Given the description of an element on the screen output the (x, y) to click on. 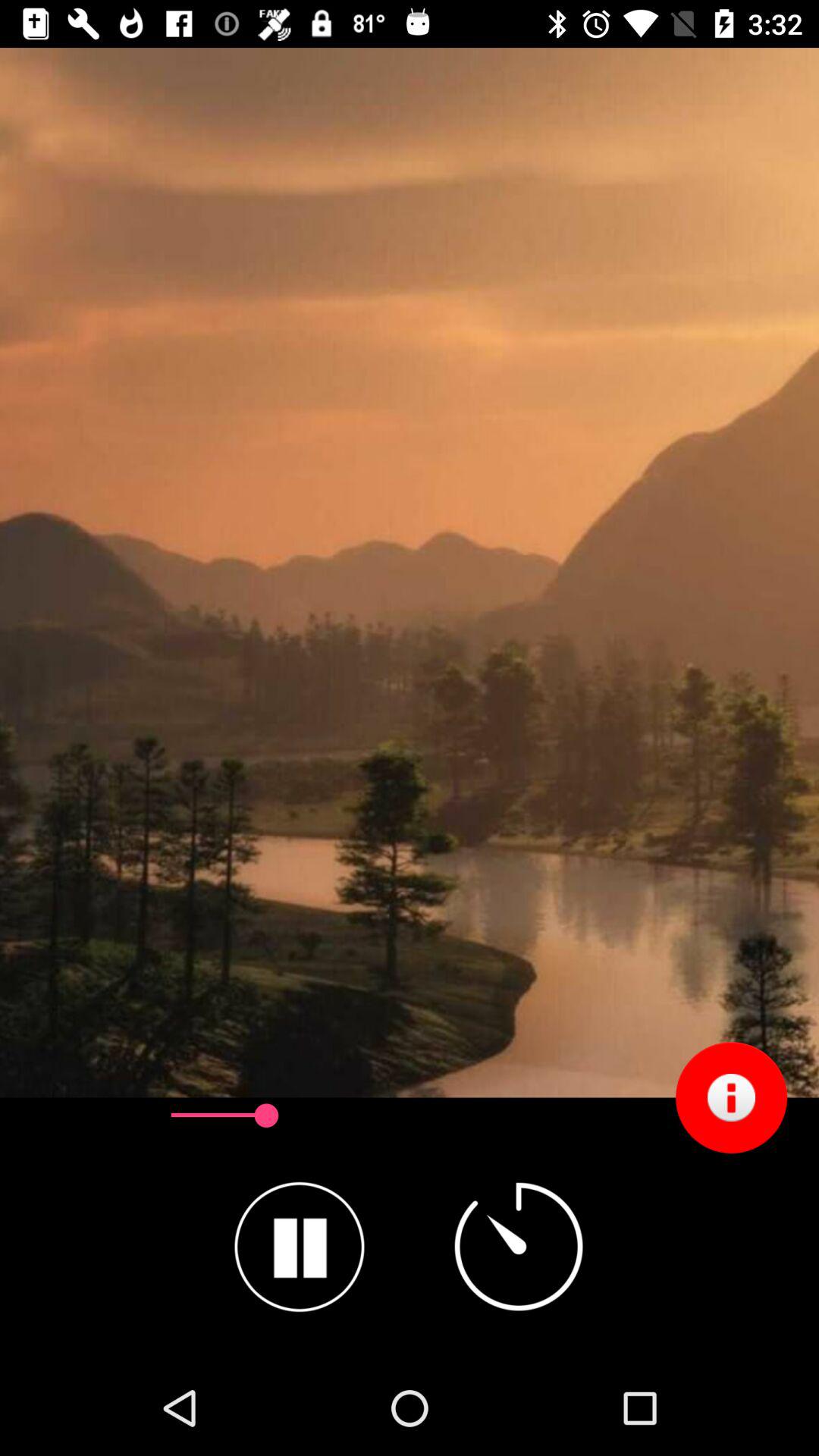
press the item at the bottom right corner (731, 1097)
